Given the description of an element on the screen output the (x, y) to click on. 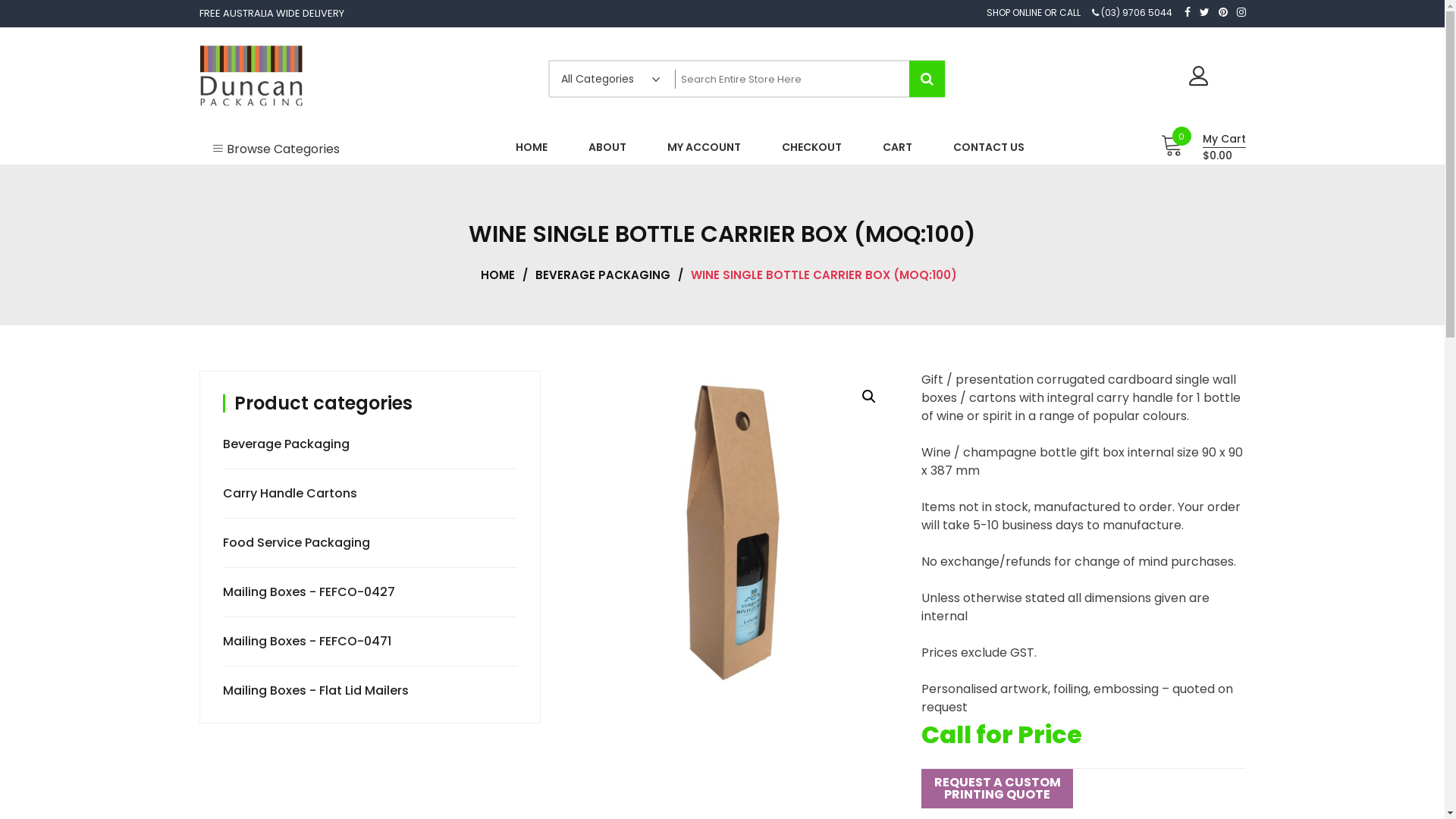
Mailing Boxes - FEFCO-0427 Element type: text (310, 591)
Mailing Boxes - FEFCO-0471 Element type: text (308, 640)
DUNCAN PACKAGING SHOP Element type: text (323, 128)
Carry Handle Cartons Element type: text (291, 493)
0
My Cart
$0.00 Element type: text (1198, 147)
CONTACT US Element type: text (988, 147)
HOME Element type: text (530, 147)
Mailing Boxes - Flat Lid Mailers Element type: text (317, 690)
CART Element type: text (896, 147)
Beverage Packaging Element type: text (287, 443)
HOME Element type: text (501, 274)
WINE SINGLE BOTTLE CARRIER BOX Element type: hover (732, 532)
Browse Categories Element type: text (274, 147)
CHECKOUT Element type: text (811, 147)
Food Service Packaging Element type: text (297, 542)
MY ACCOUNT Element type: text (703, 147)
ABOUT Element type: text (606, 147)
BEVERAGE PACKAGING Element type: text (606, 274)
